Given the description of an element on the screen output the (x, y) to click on. 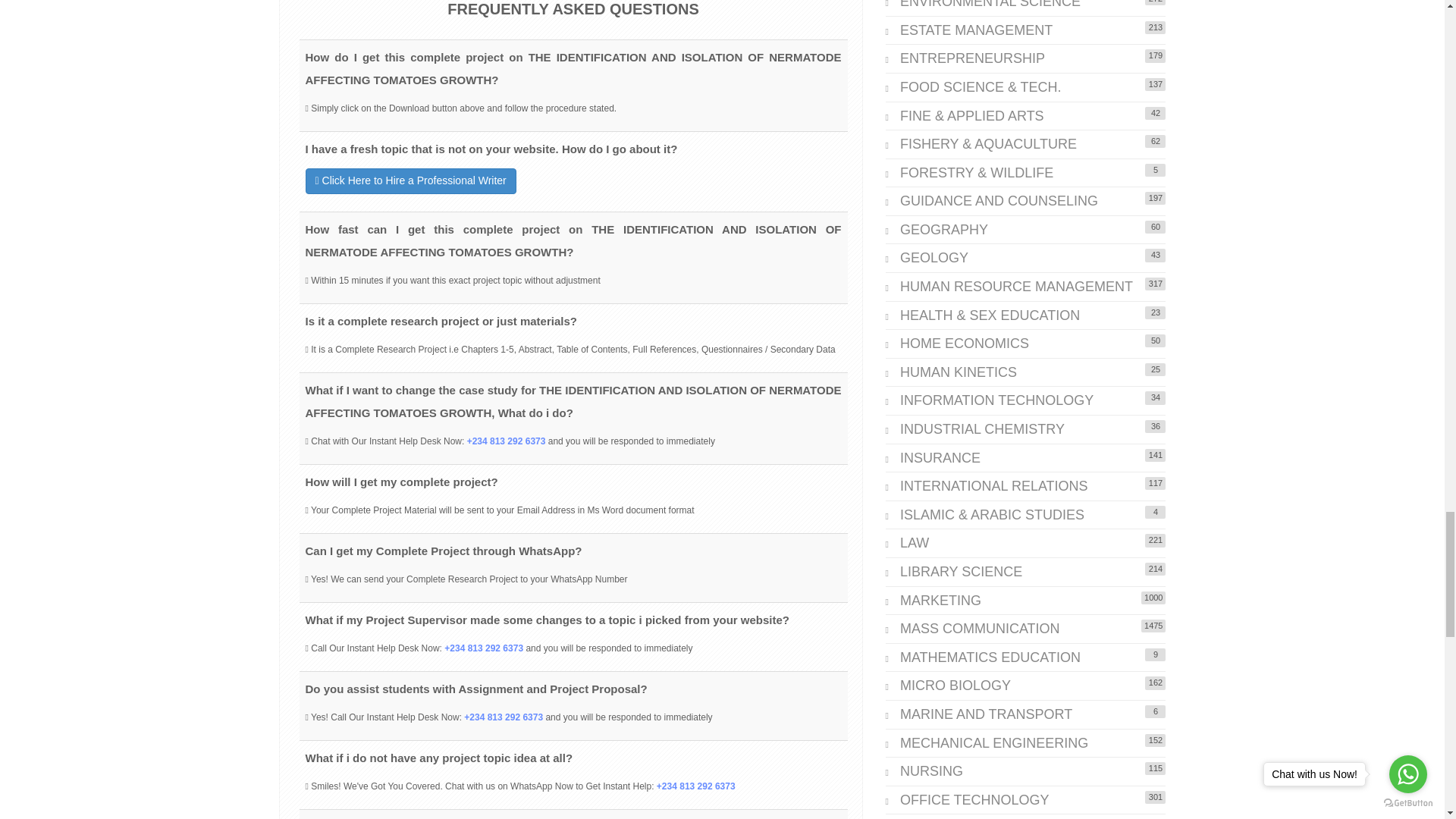
Click Here to Hire a Professional Writer (409, 181)
Click Here to Hire a Professional Writer (572, 181)
